Given the description of an element on the screen output the (x, y) to click on. 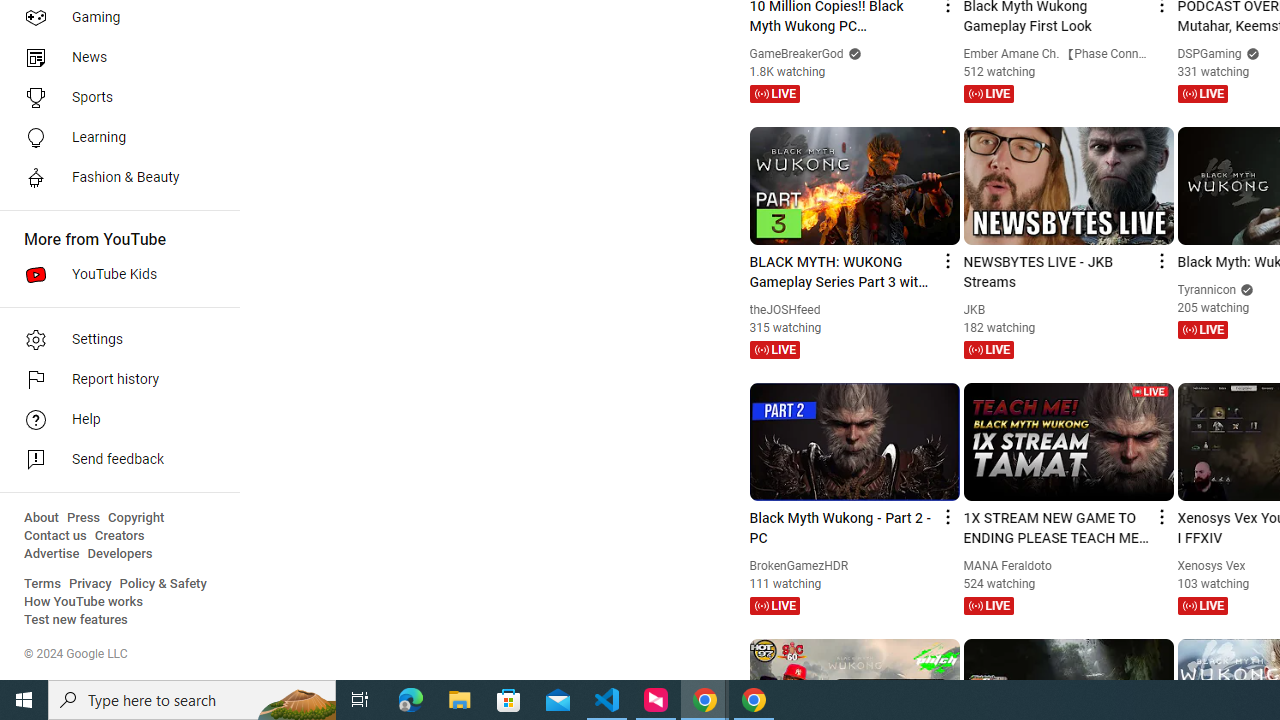
JKB (974, 309)
Test new features (76, 620)
Contact us (55, 536)
Xenosys Vex (1211, 566)
Learning (113, 137)
Copyright (136, 518)
